Given the description of an element on the screen output the (x, y) to click on. 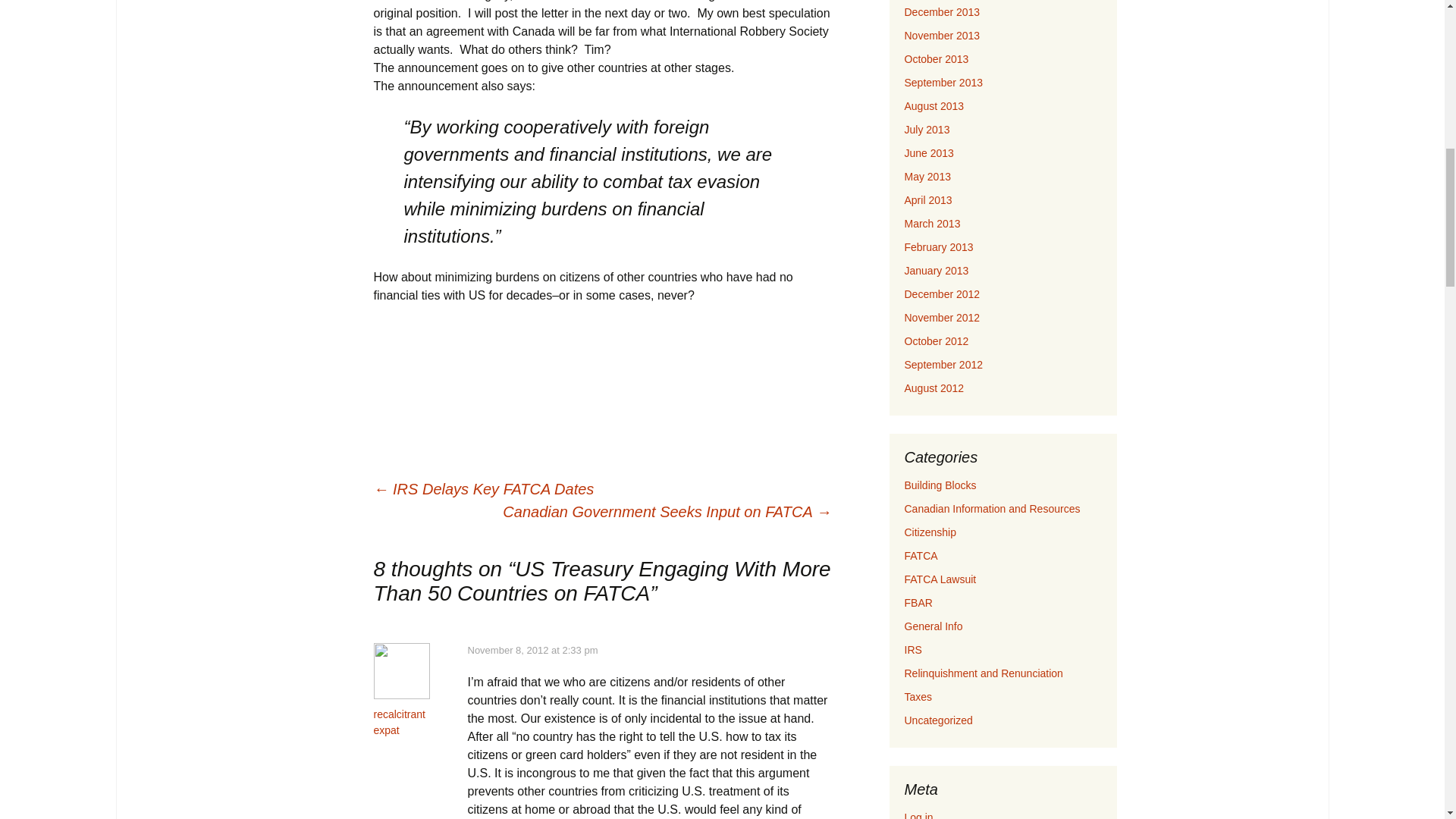
recalcitrantexpat (398, 722)
November 8, 2012 at 2:33 pm (531, 650)
